Given the description of an element on the screen output the (x, y) to click on. 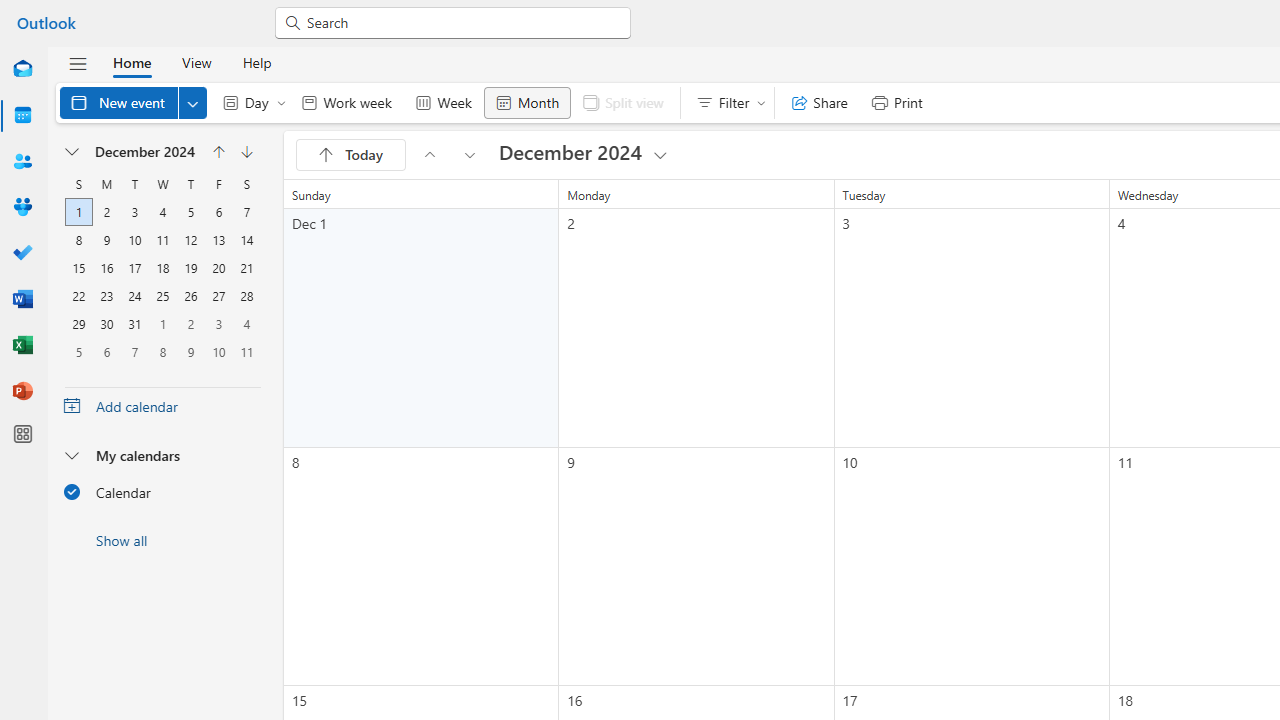
Word (22, 299)
6, January, 2025 (107, 351)
Show all (162, 540)
6, December, 2024 (218, 211)
18, December, 2024 (163, 268)
10, January, 2025 (218, 351)
Share (819, 102)
3, December, 2024 (134, 211)
Filter (726, 102)
7, January, 2025 (134, 351)
Print (896, 102)
8, December, 2024 (79, 240)
1, December, 2024 (78, 211)
2, January, 2025 (190, 323)
Groups (22, 207)
